Given the description of an element on the screen output the (x, y) to click on. 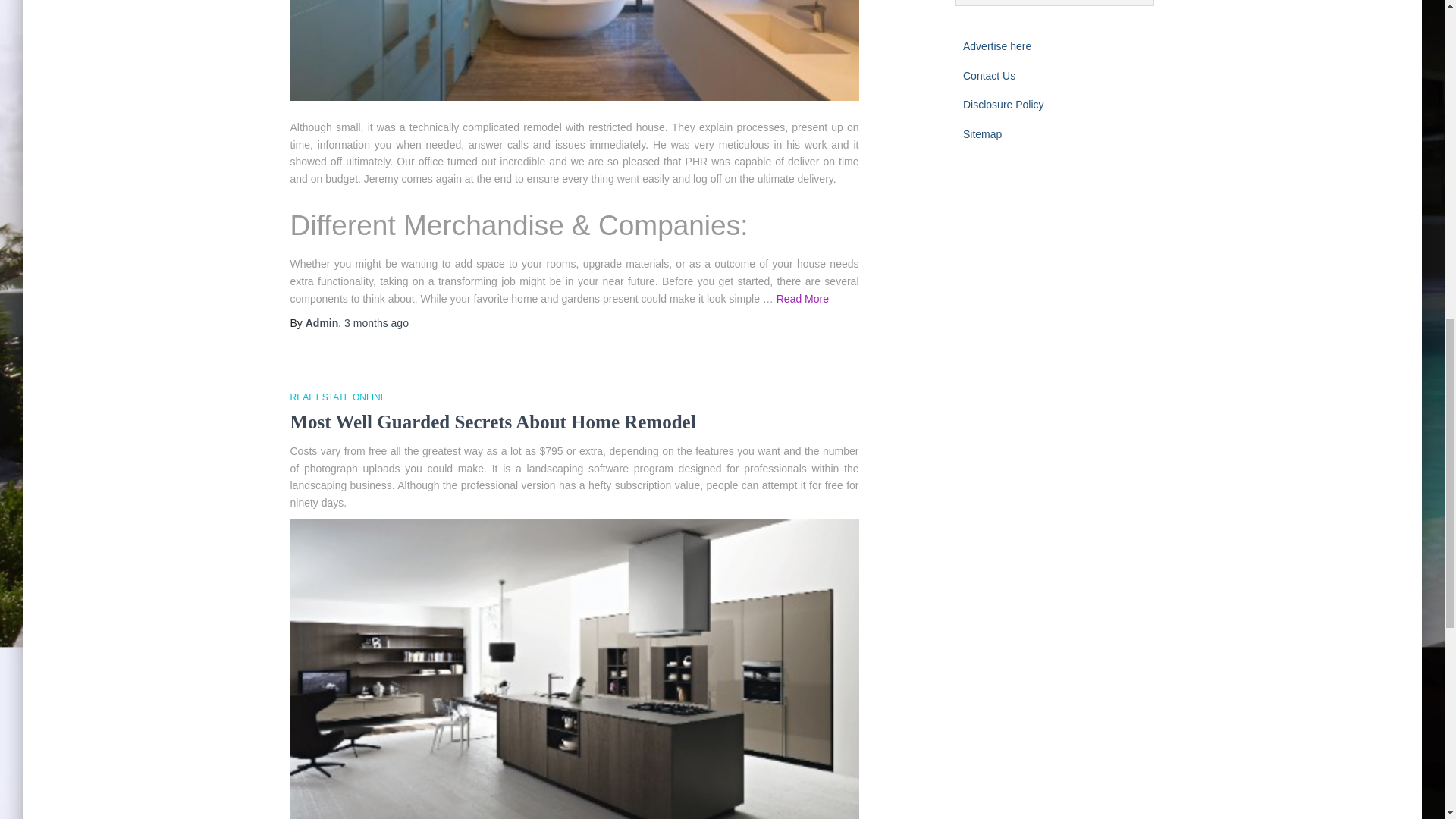
View all posts in Real Estate Online (337, 397)
Admin (322, 322)
3 months ago (376, 322)
Advertise here (996, 46)
Most Well Guarded Secrets About Home Remodel (492, 421)
Sitemap (981, 133)
Disclosure Policy (1002, 104)
Contact Us (988, 75)
Admin (322, 322)
Most Well Guarded Secrets About Home Remodel (492, 421)
REAL ESTATE ONLINE (337, 397)
Read More (802, 298)
